Given the description of an element on the screen output the (x, y) to click on. 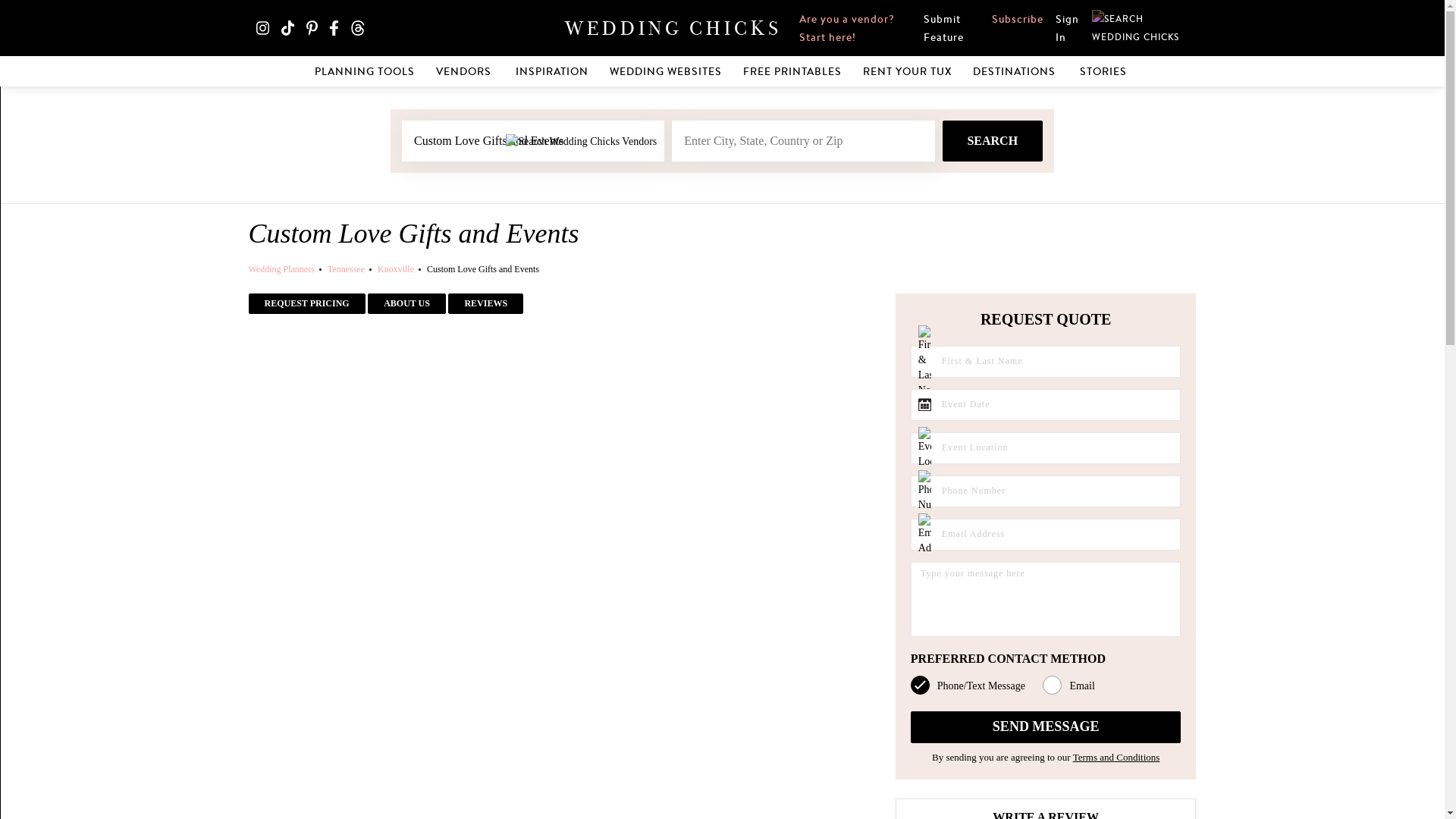
WeddingChicks on Pinterest (315, 27)
WeddingChicks on Threads (362, 27)
WeddingChicks on Facebook (338, 27)
Subscribe (1017, 19)
WEDDING CHICKS (672, 28)
ABOUT US (406, 303)
FREE PRINTABLES (791, 72)
DESTINATIONS (1015, 72)
WeddingChicks on Tiktok (291, 27)
REVIEWS (485, 303)
WeddingChicks on Instagram (267, 27)
Are you a vendor? Start here! (855, 28)
VENDORS (464, 72)
WEDDING WEBSITES (666, 72)
STORIES (1104, 72)
